Given the description of an element on the screen output the (x, y) to click on. 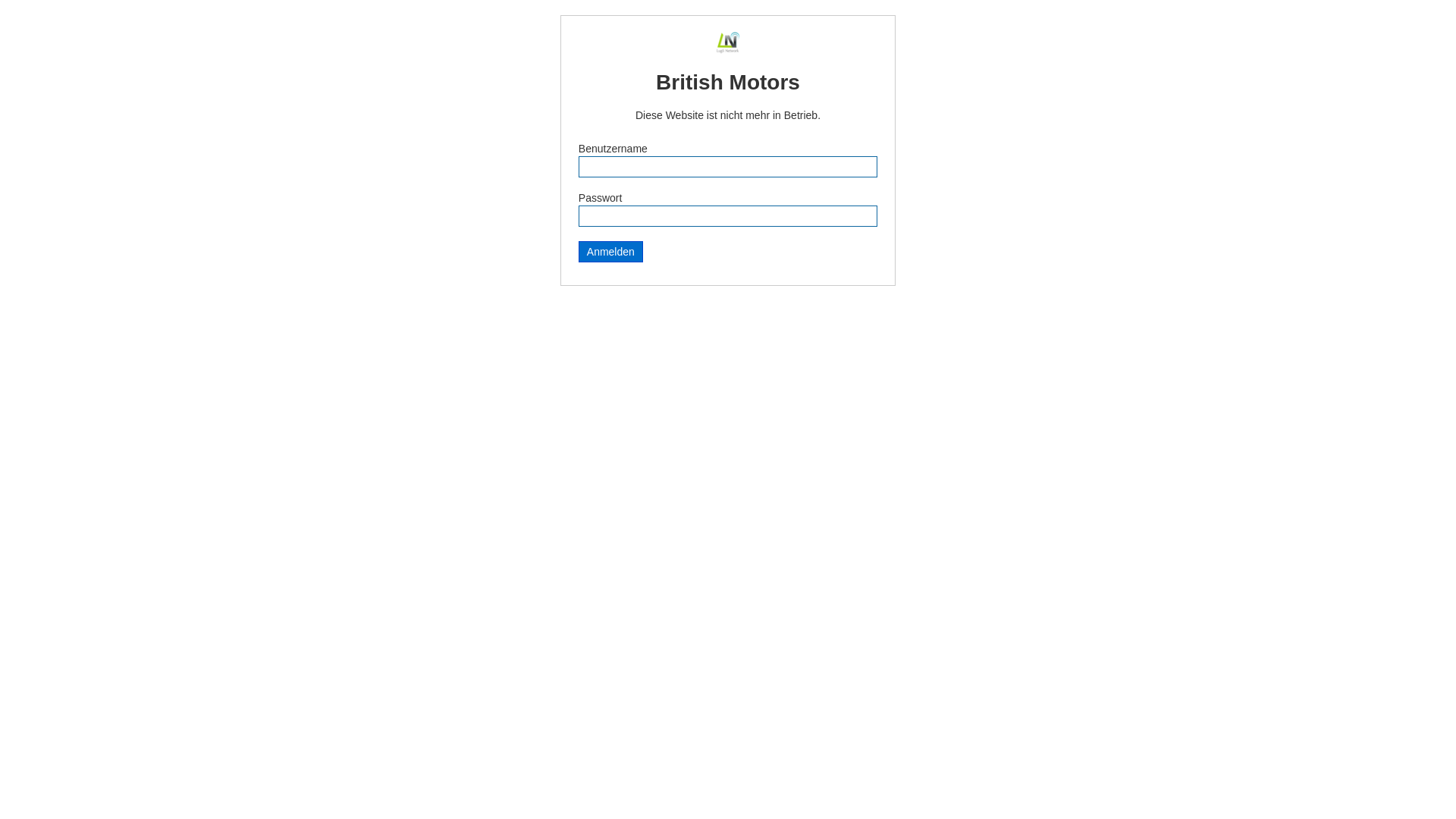
Anmelden Element type: text (610, 251)
